Given the description of an element on the screen output the (x, y) to click on. 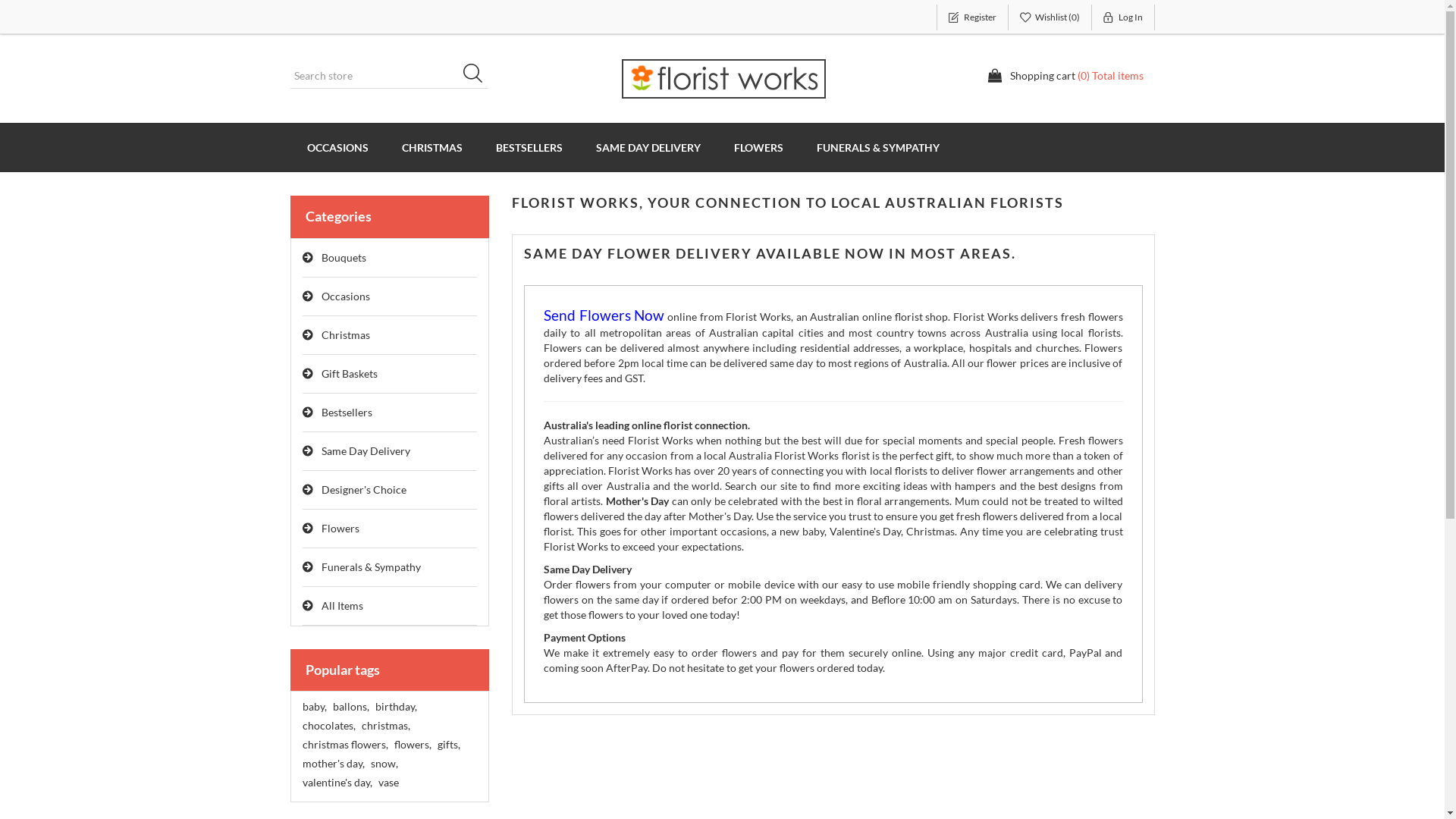
christmas flowers, Element type: text (344, 744)
Bestsellers Element type: text (388, 412)
Shopping cart (0) Total items Element type: text (1065, 75)
ballons, Element type: text (350, 706)
OCCASIONS Element type: text (336, 147)
baby, Element type: text (313, 706)
snow, Element type: text (383, 763)
Flowers Element type: text (388, 528)
BESTSELLERS Element type: text (529, 147)
gifts, Element type: text (447, 744)
Christmas Element type: text (388, 335)
mother's day, Element type: text (332, 763)
chocolates, Element type: text (327, 725)
vase Element type: text (387, 782)
Occasions Element type: text (388, 296)
Send Flowers Now Element type: text (603, 316)
Bouquets Element type: text (388, 257)
valentine's day, Element type: text (336, 782)
Same Day Delivery Element type: text (388, 451)
birthday, Element type: text (395, 706)
CHRISTMAS Element type: text (432, 147)
FLOWERS Element type: text (758, 147)
Log In Element type: text (1123, 17)
Wishlist (0) Element type: text (1050, 17)
All Items Element type: text (388, 605)
SAME DAY DELIVERY Element type: text (648, 147)
Gift Baskets Element type: text (388, 373)
Funerals & Sympathy Element type: text (388, 567)
Register Element type: text (971, 17)
christmas, Element type: text (384, 725)
flowers, Element type: text (412, 744)
FUNERALS & SYMPATHY Element type: text (877, 147)
Designer's Choice Element type: text (388, 489)
